Given the description of an element on the screen output the (x, y) to click on. 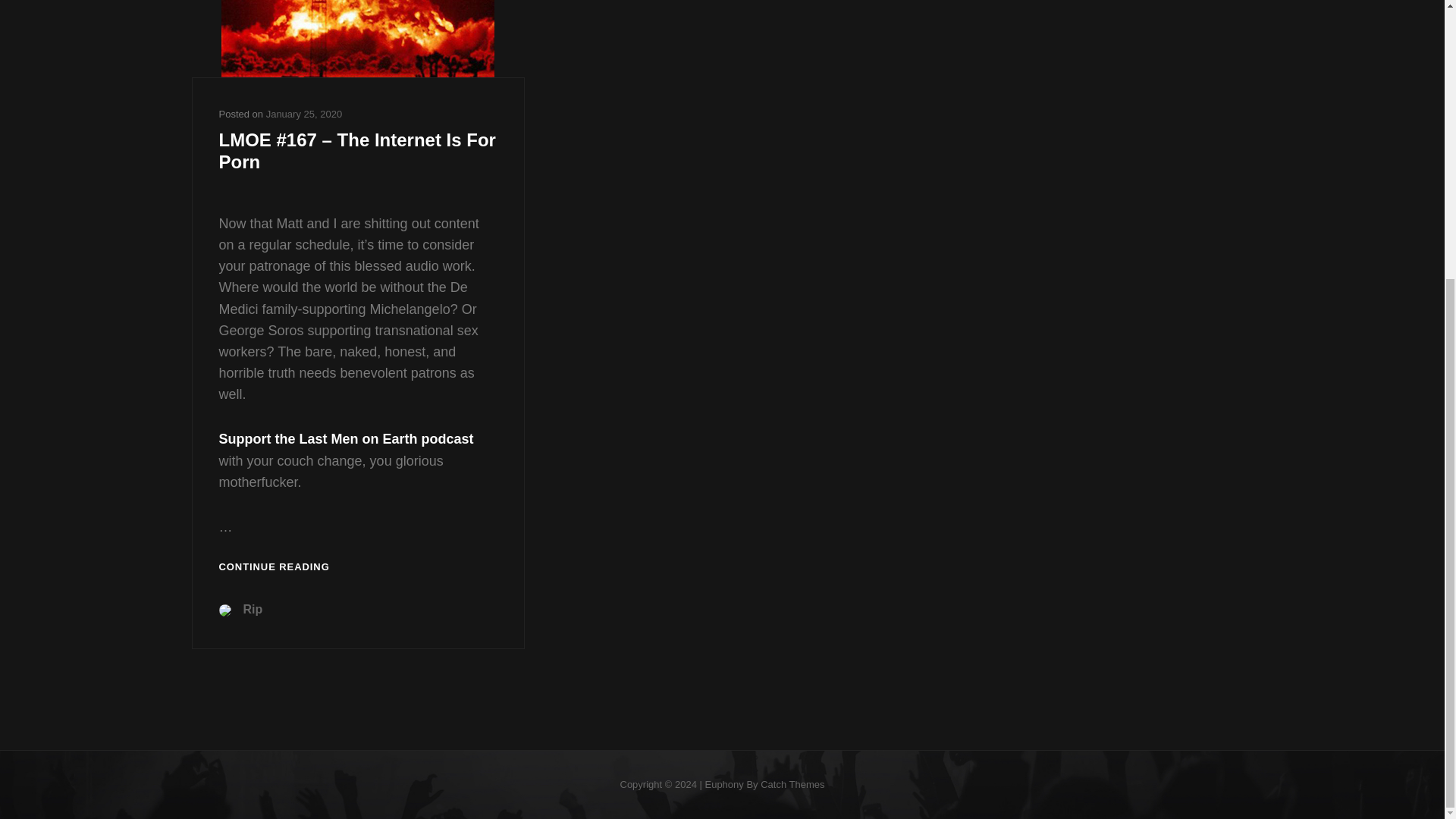
Catch Themes (792, 784)
January 25, 2020 (304, 113)
Support the Last Men on Earth podcast (345, 438)
Rip (252, 608)
